Given the description of an element on the screen output the (x, y) to click on. 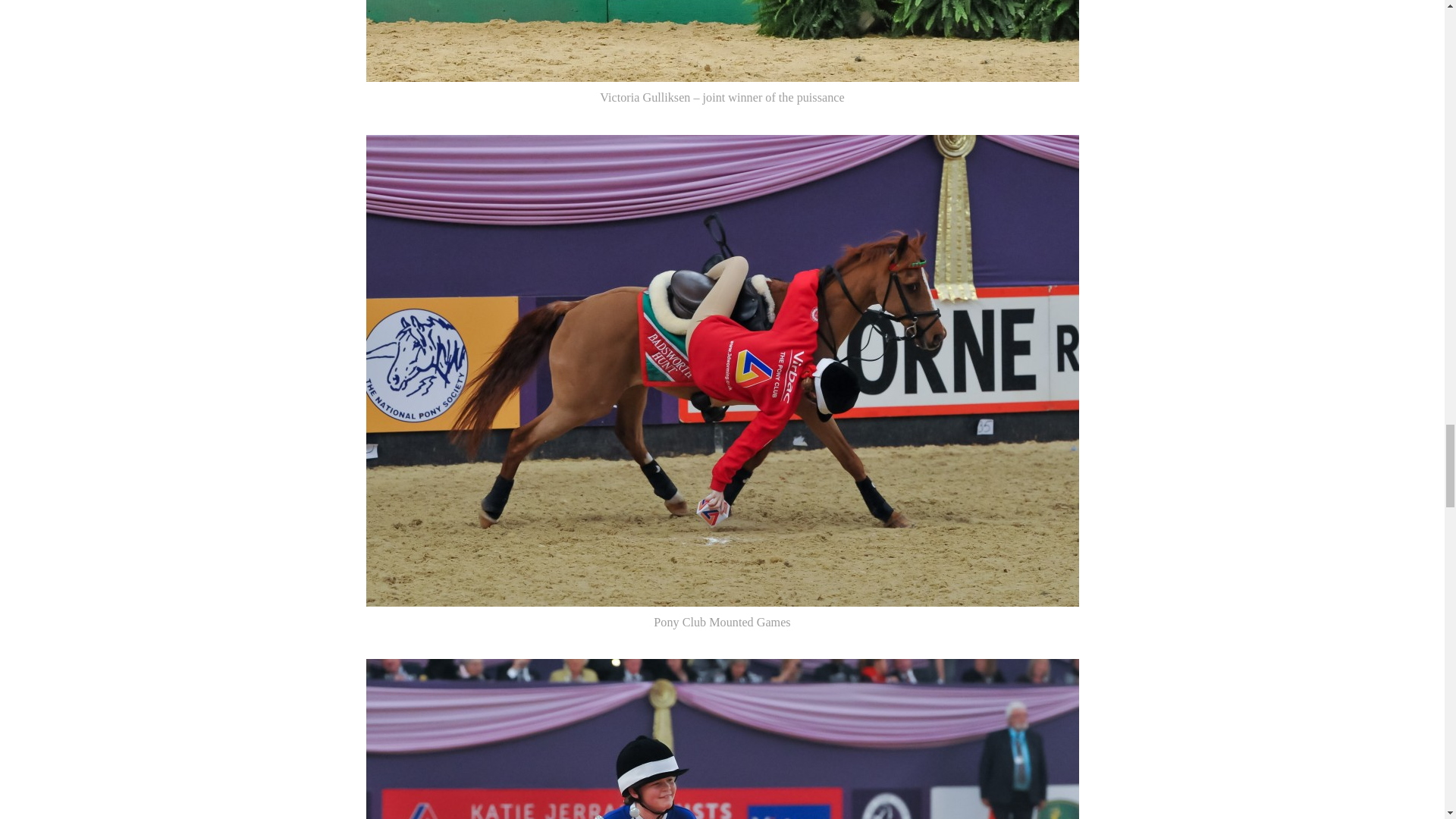
Horse of the Year Show - HOYS 2015 (721, 739)
Horse of the Year Show - HOYS 2015 (721, 40)
